Given the description of an element on the screen output the (x, y) to click on. 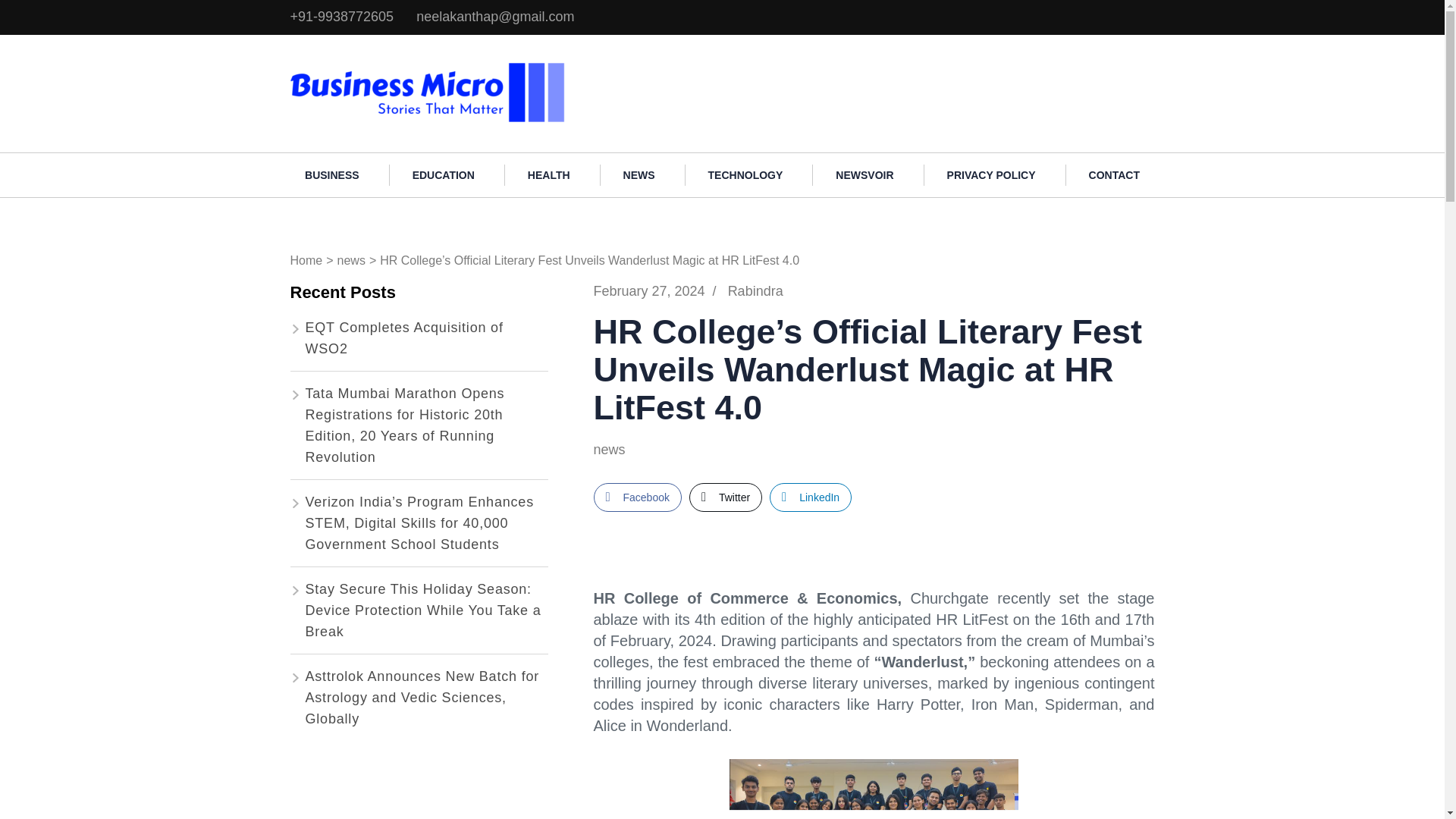
EDUCATION (444, 174)
BUSINESS (331, 174)
PRIVACY POLICY (991, 174)
Rabindra (755, 290)
Business Micro (628, 68)
NEWSVOIR (863, 174)
HEALTH (548, 174)
NEWS (639, 174)
news (619, 450)
Twitter (724, 497)
